Given the description of an element on the screen output the (x, y) to click on. 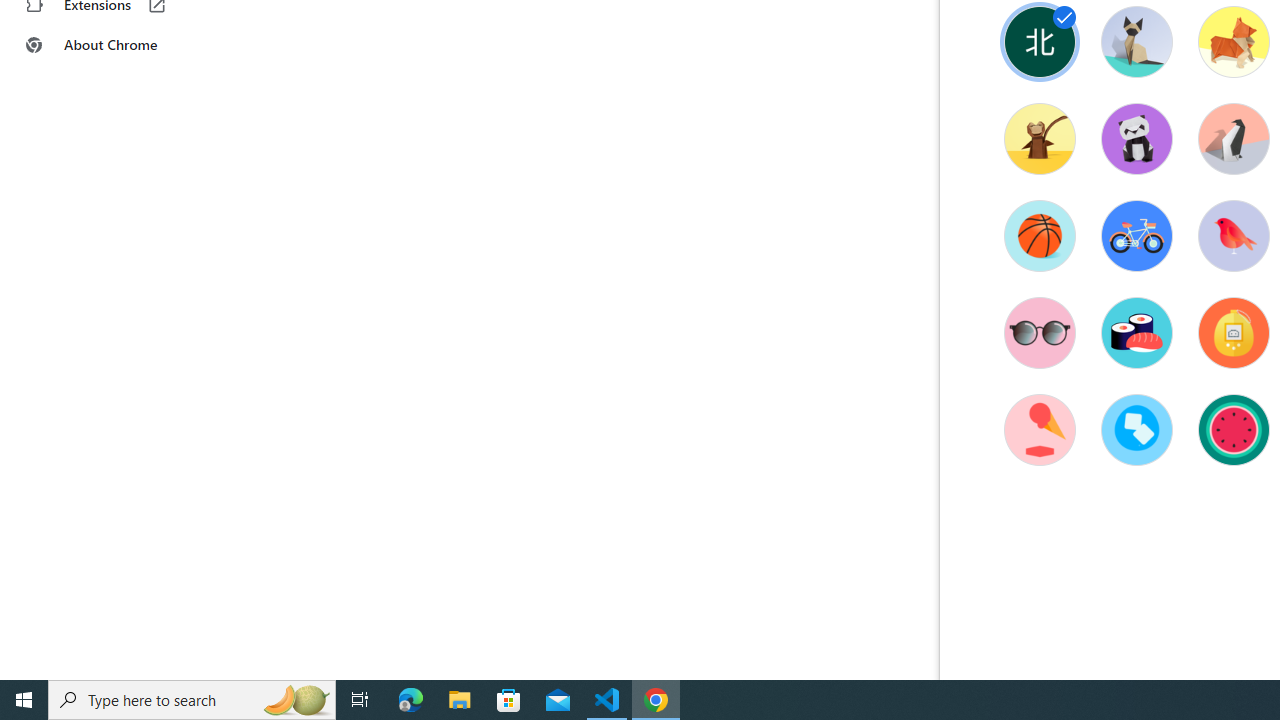
About Chrome (124, 44)
